Given the description of an element on the screen output the (x, y) to click on. 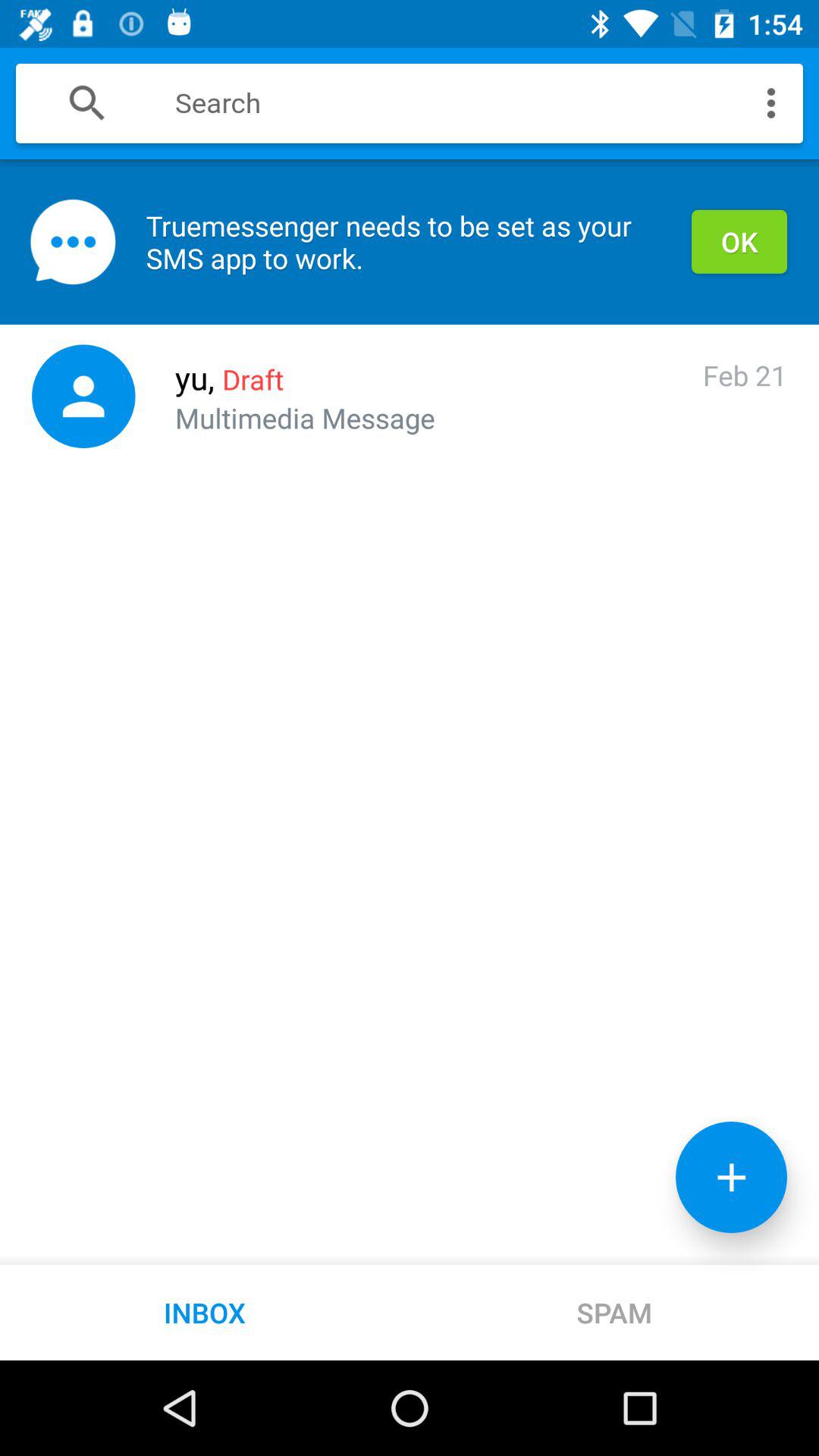
click on more options or menu logo (771, 102)
select the icon which is before multimedia message (83, 396)
